Given the description of an element on the screen output the (x, y) to click on. 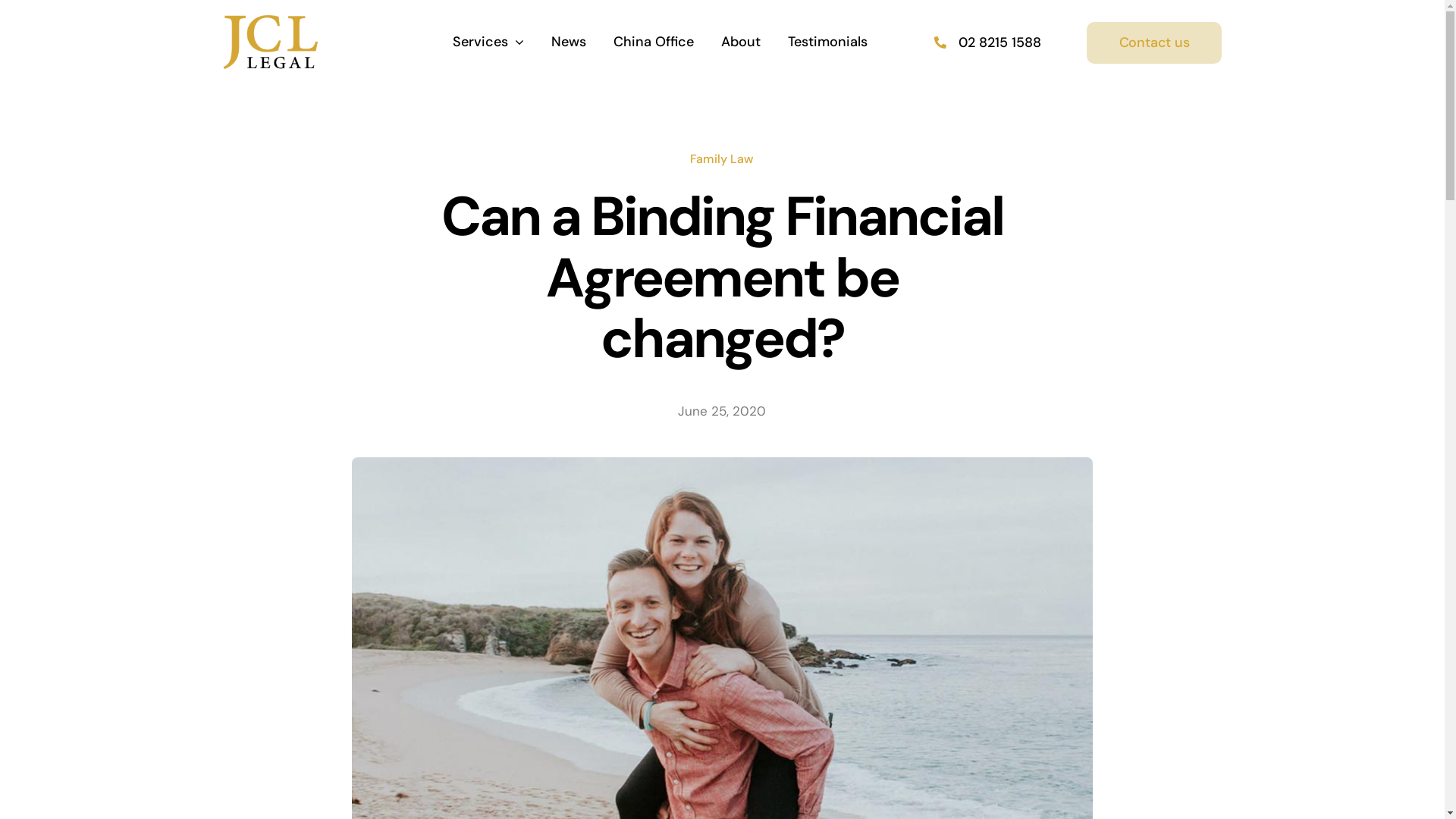
Services Element type: text (488, 42)
Contact us Element type: text (1153, 41)
Testimonials Element type: text (827, 42)
News Element type: text (568, 42)
About Element type: text (740, 42)
Family Law Element type: text (721, 158)
China Office Element type: text (653, 42)
